Given the description of an element on the screen output the (x, y) to click on. 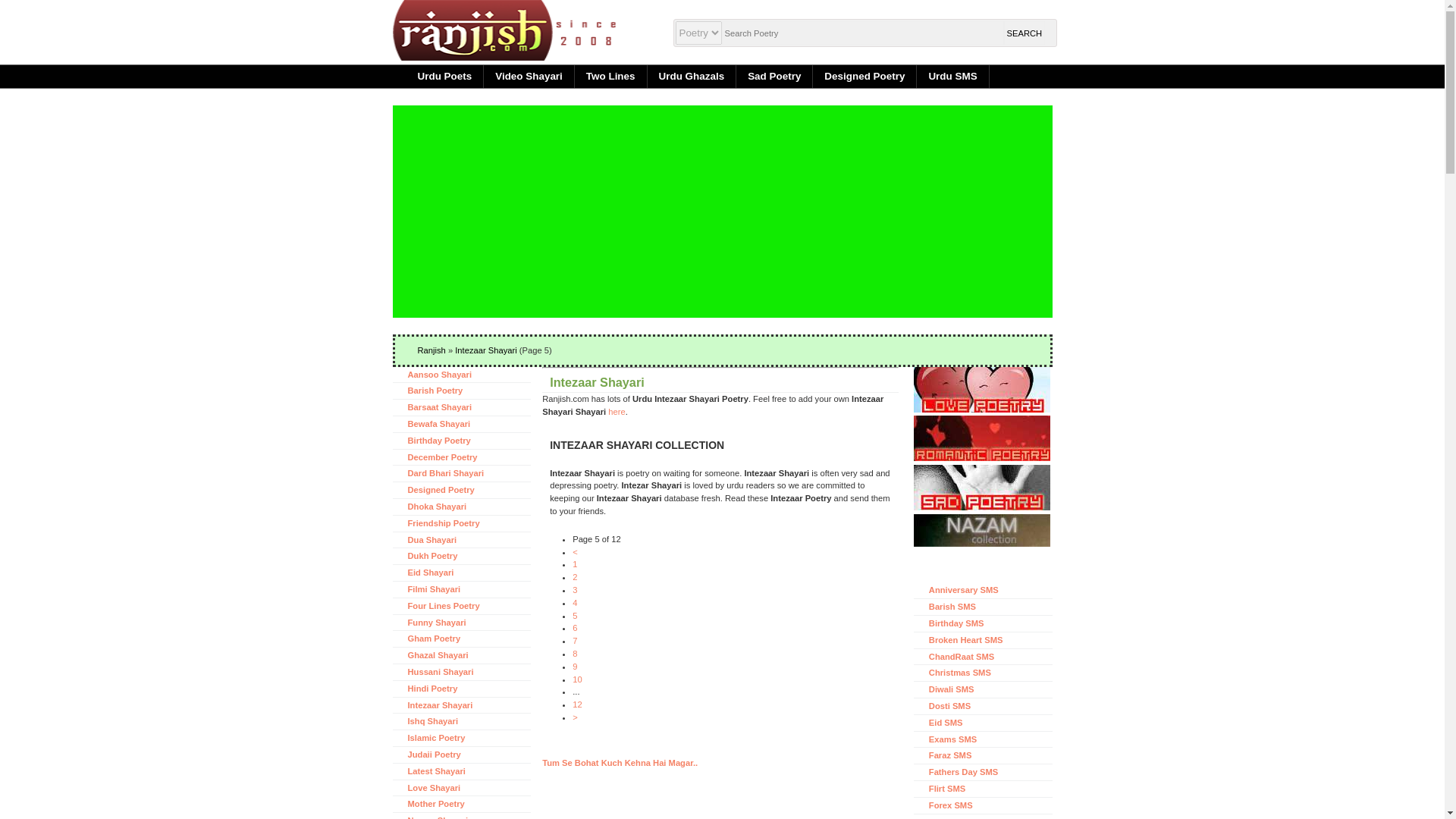
Hussani Shayari (440, 671)
December Poetry (442, 456)
Judaii Poetry (434, 754)
Dua Shayari (432, 539)
Tum Se Bohat Kuch Kehna Hai Magar.. (619, 762)
Hindi Poetry (432, 687)
Designed Poetry (440, 489)
Barsaat Shayari (439, 406)
Ranjish (430, 349)
Urdu Poets (444, 76)
